Given the description of an element on the screen output the (x, y) to click on. 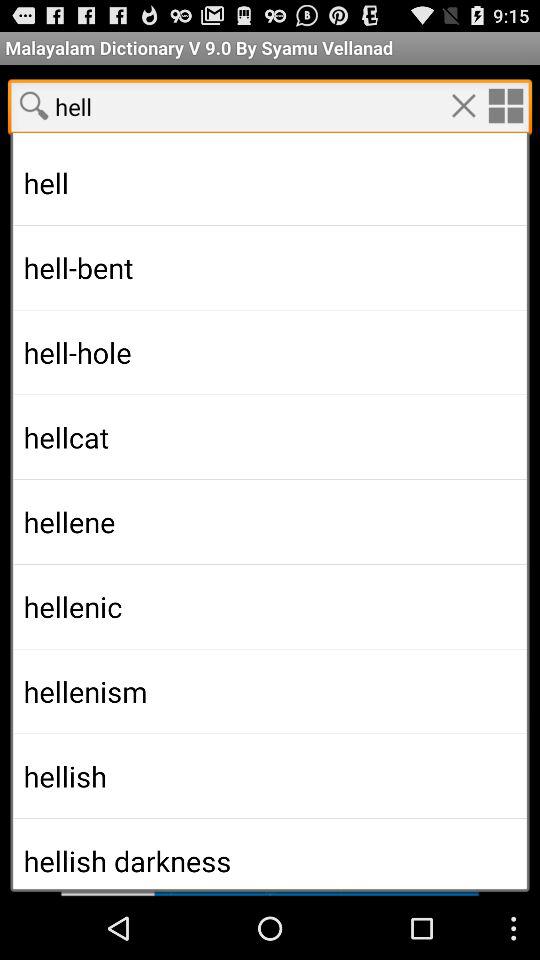
clear all typing (463, 105)
